Given the description of an element on the screen output the (x, y) to click on. 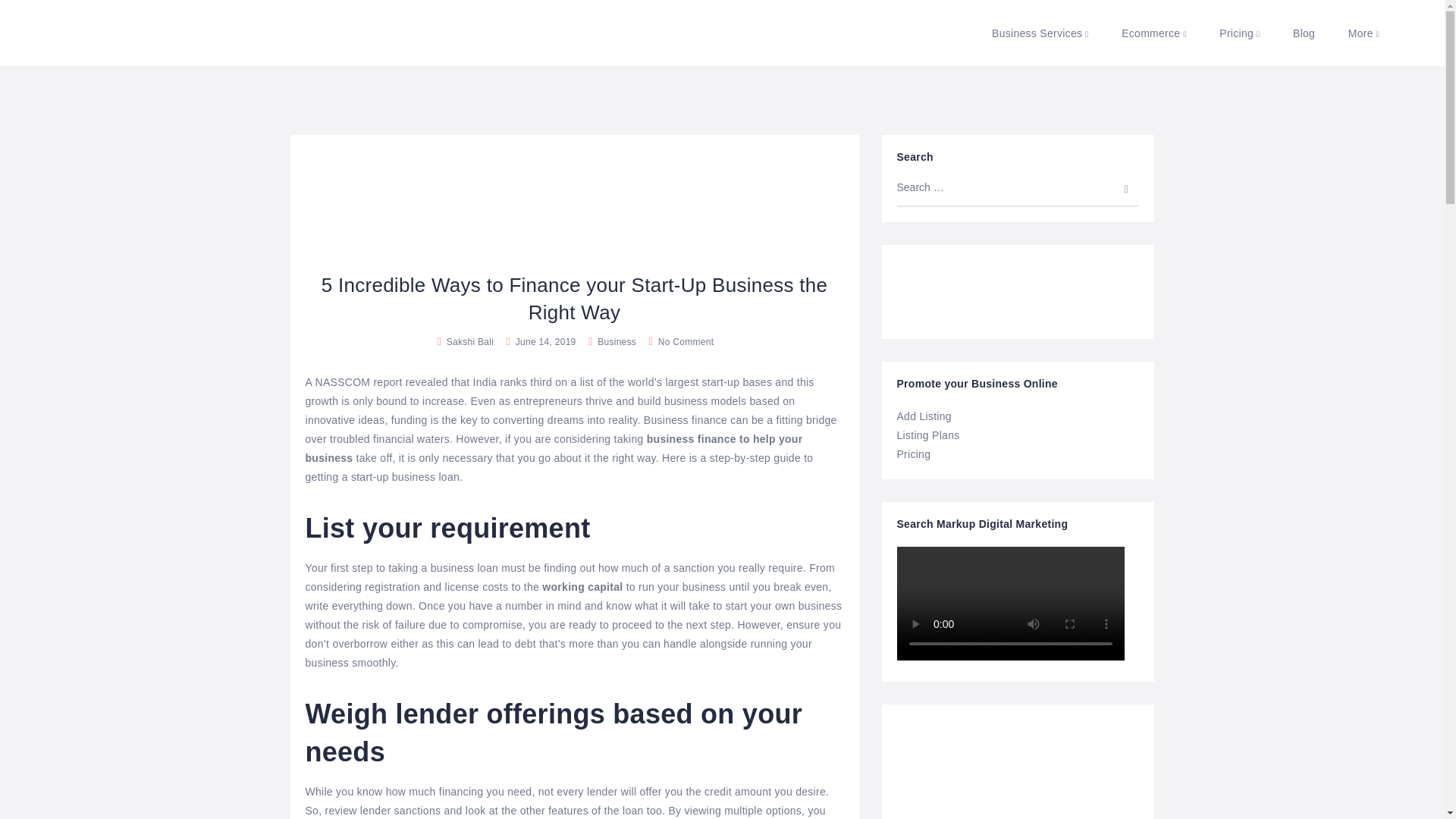
Pricing (1239, 33)
Ecommerce (1154, 33)
More (1363, 33)
Business Services (1039, 33)
